Given the description of an element on the screen output the (x, y) to click on. 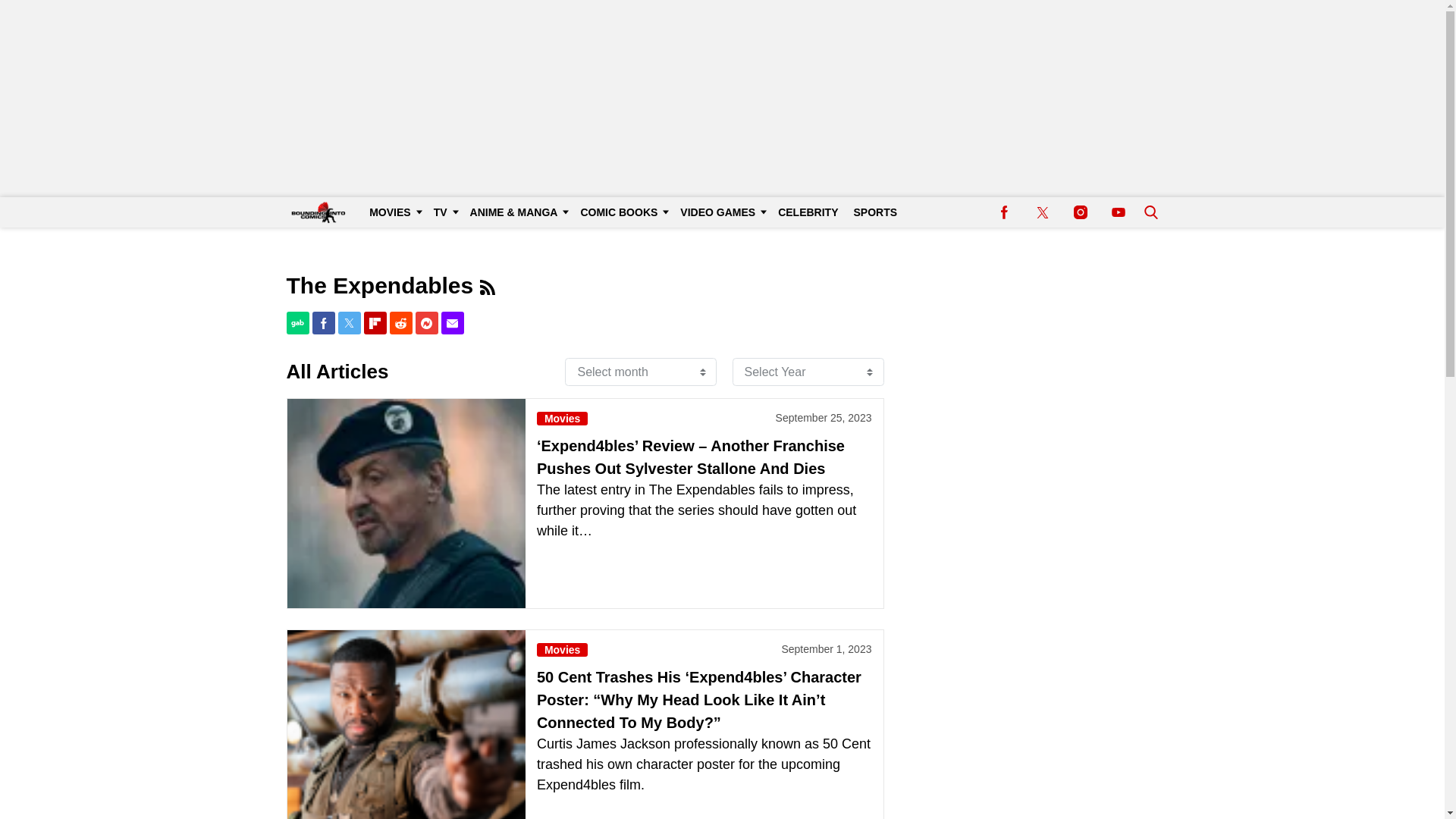
Share on Facebook (323, 323)
CELEBRITY (807, 212)
SPORTS (874, 212)
Share on Reddit (401, 323)
Share via Email (452, 323)
Share on Twitter (349, 323)
TV (444, 212)
VIDEO GAMES (721, 212)
Share on News Break (426, 323)
Share on Flipboard (375, 323)
